Given the description of an element on the screen output the (x, y) to click on. 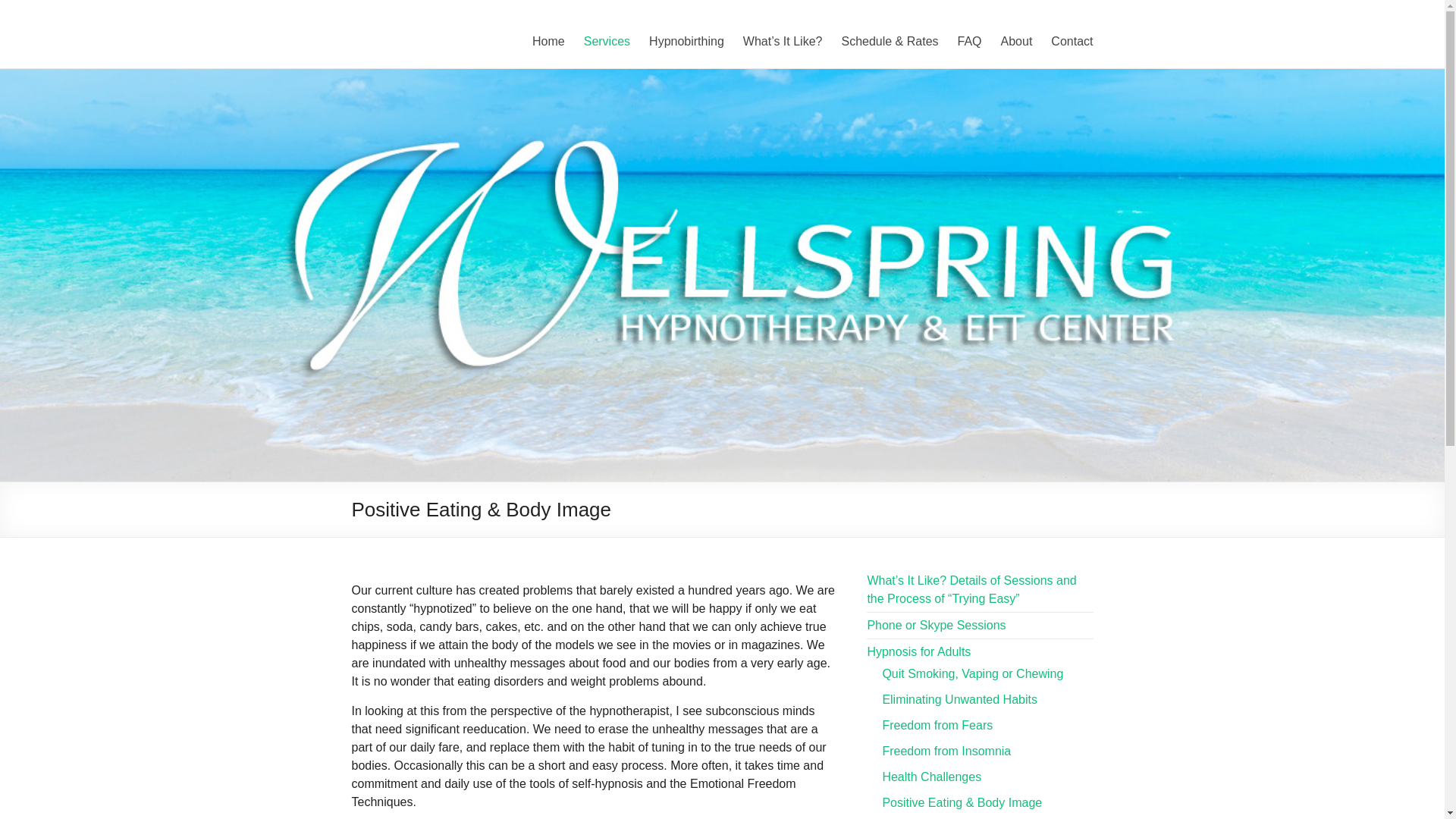
Home (548, 41)
Hypnobirthing (686, 41)
Services (606, 41)
